Given the description of an element on the screen output the (x, y) to click on. 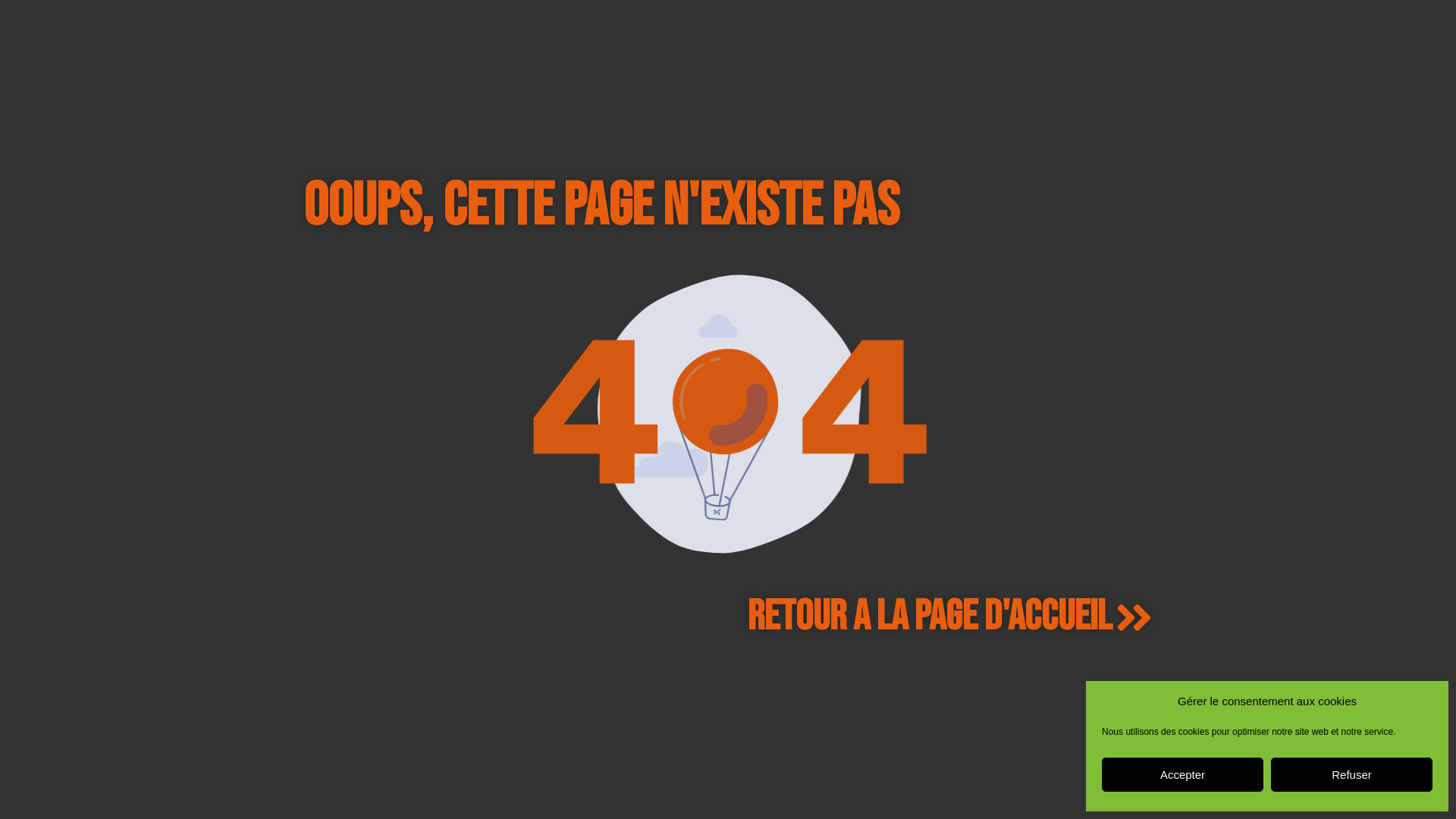
Refuser Element type: text (1351, 774)
Retour a la page d'accueil Element type: text (949, 619)
Accepter Element type: text (1182, 774)
